Given the description of an element on the screen output the (x, y) to click on. 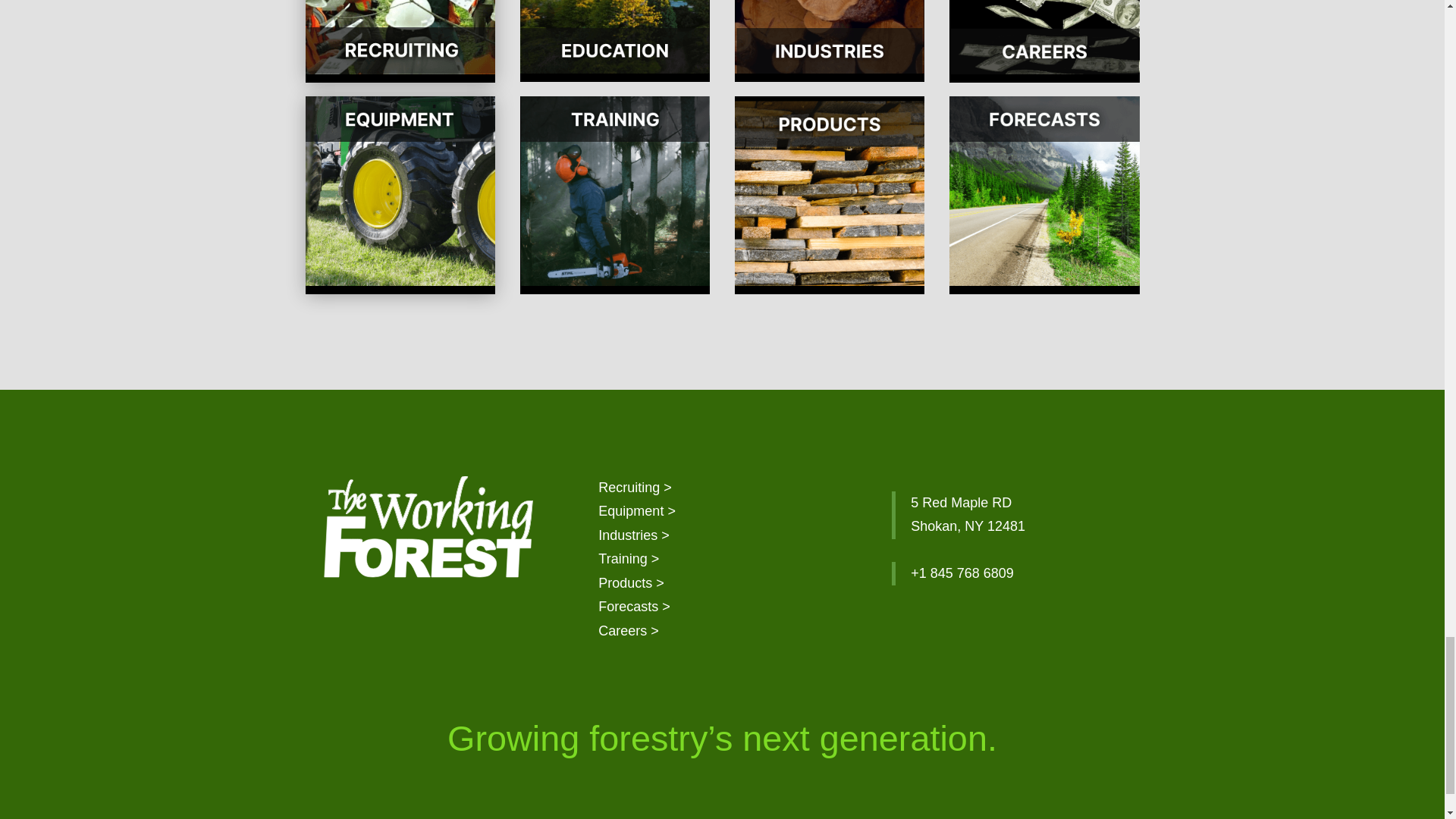
Products (630, 582)
Career Information (628, 630)
Forcasts (633, 606)
Recruiting Information (634, 487)
Equipment Information (636, 510)
Industries (633, 534)
Training Information (628, 558)
